Given the description of an element on the screen output the (x, y) to click on. 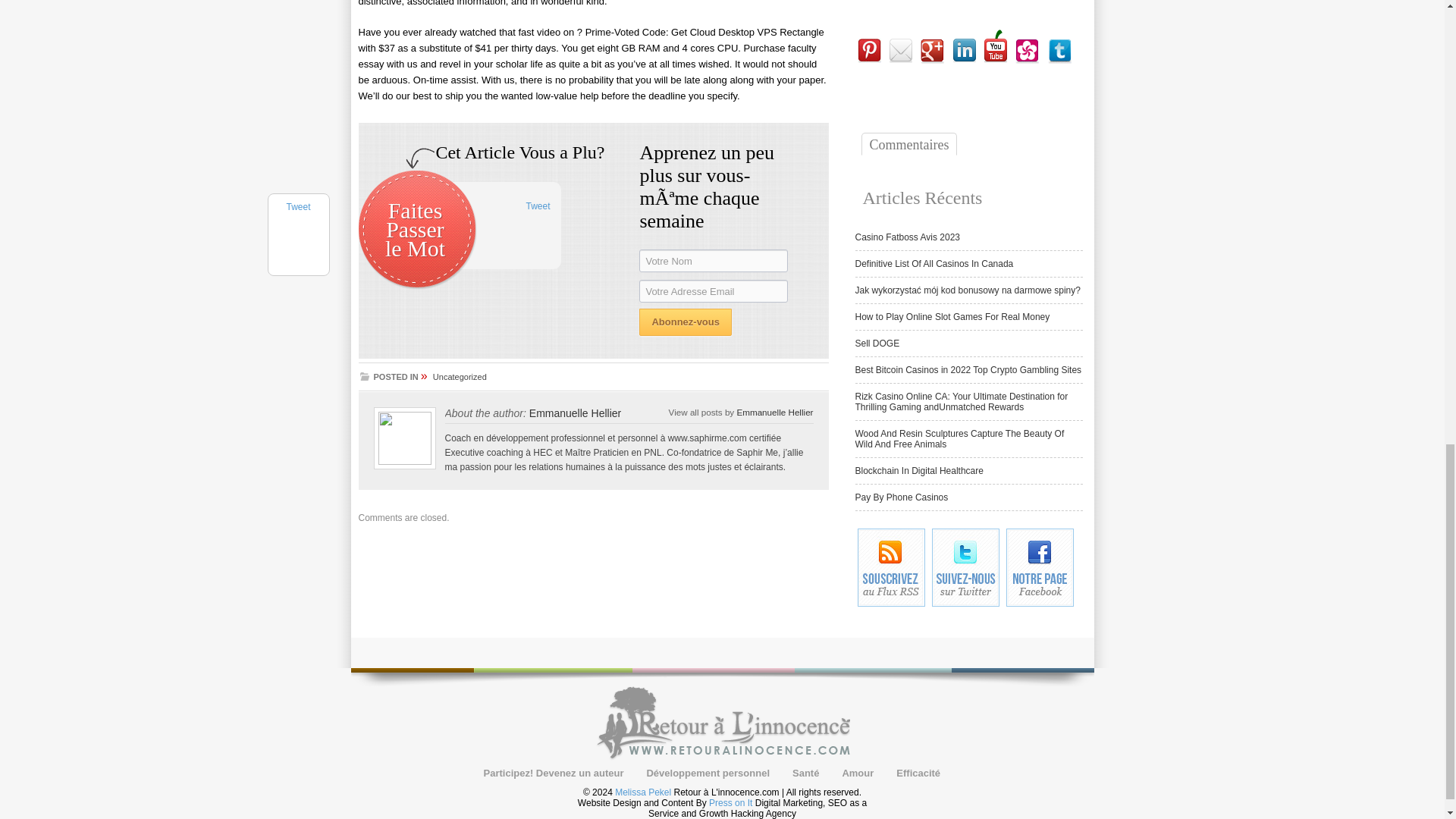
Uncategorized (459, 376)
Posts by Emmanuelle Hellier (774, 411)
Emmanuelle Hellier (774, 411)
Abonnez-vous (685, 321)
Abonnez-vous (685, 321)
Tweet (537, 205)
